Given the description of an element on the screen output the (x, y) to click on. 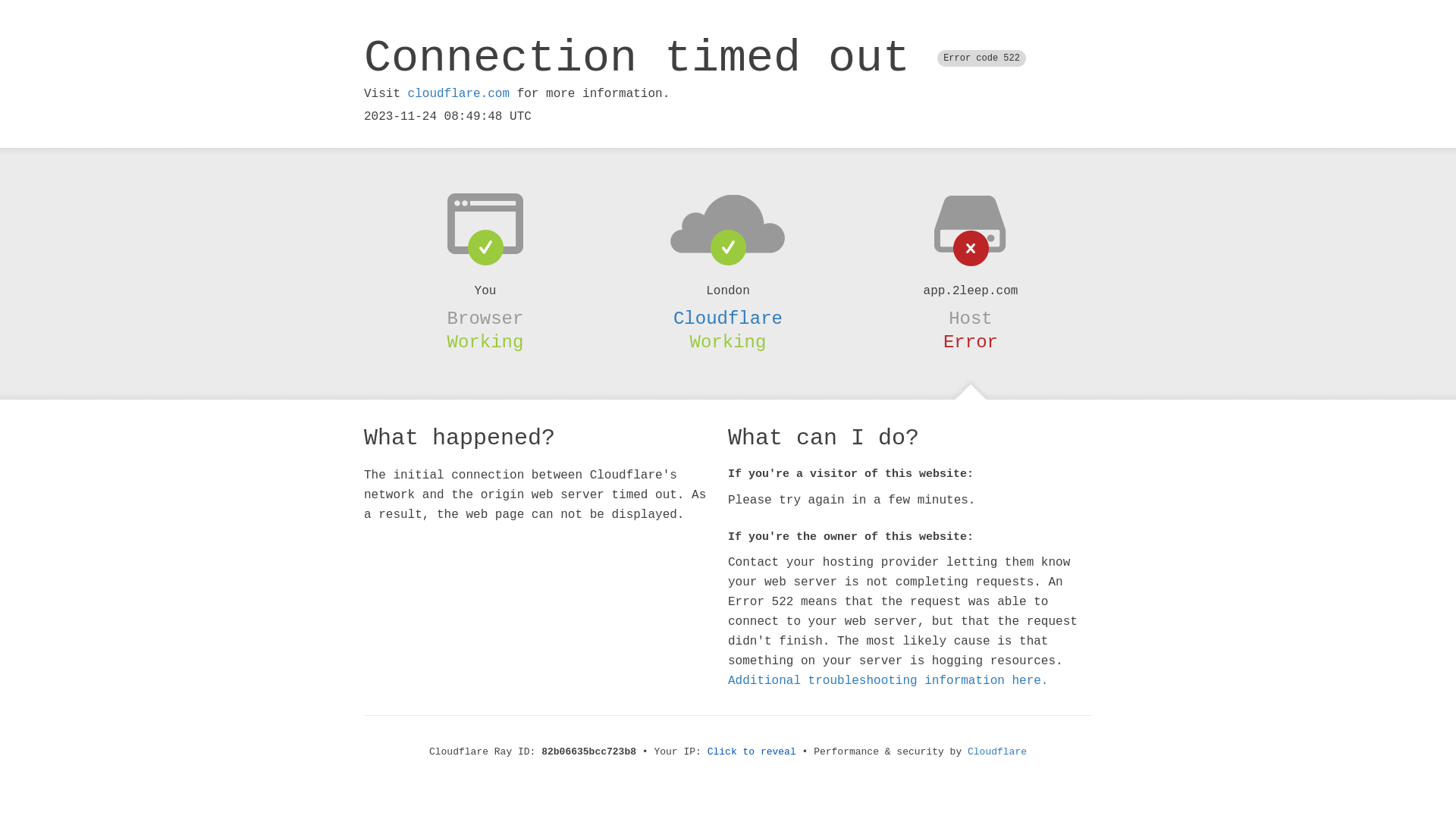
Cloudflare Element type: text (996, 751)
cloudflare.com Element type: text (458, 93)
Click to reveal Element type: text (751, 751)
Additional troubleshooting information here. Element type: text (888, 680)
Cloudflare Element type: text (727, 318)
